Given the description of an element on the screen output the (x, y) to click on. 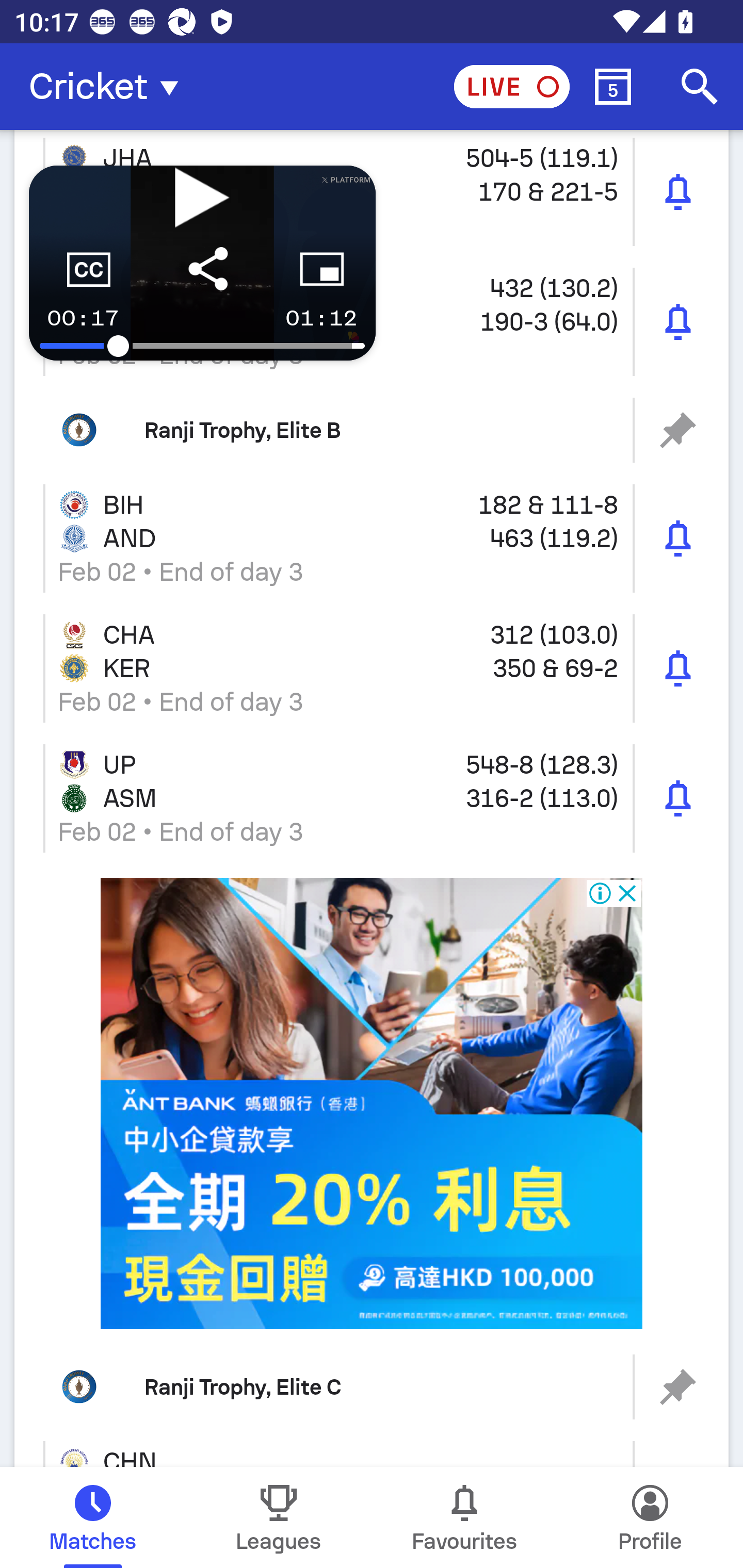
Cricket (109, 86)
Calendar (612, 86)
Search (699, 86)
Ranji Trophy, Elite B (371, 430)
Ranji Trophy, Elite C (371, 1386)
Leagues (278, 1517)
Favourites (464, 1517)
Profile (650, 1517)
